Given the description of an element on the screen output the (x, y) to click on. 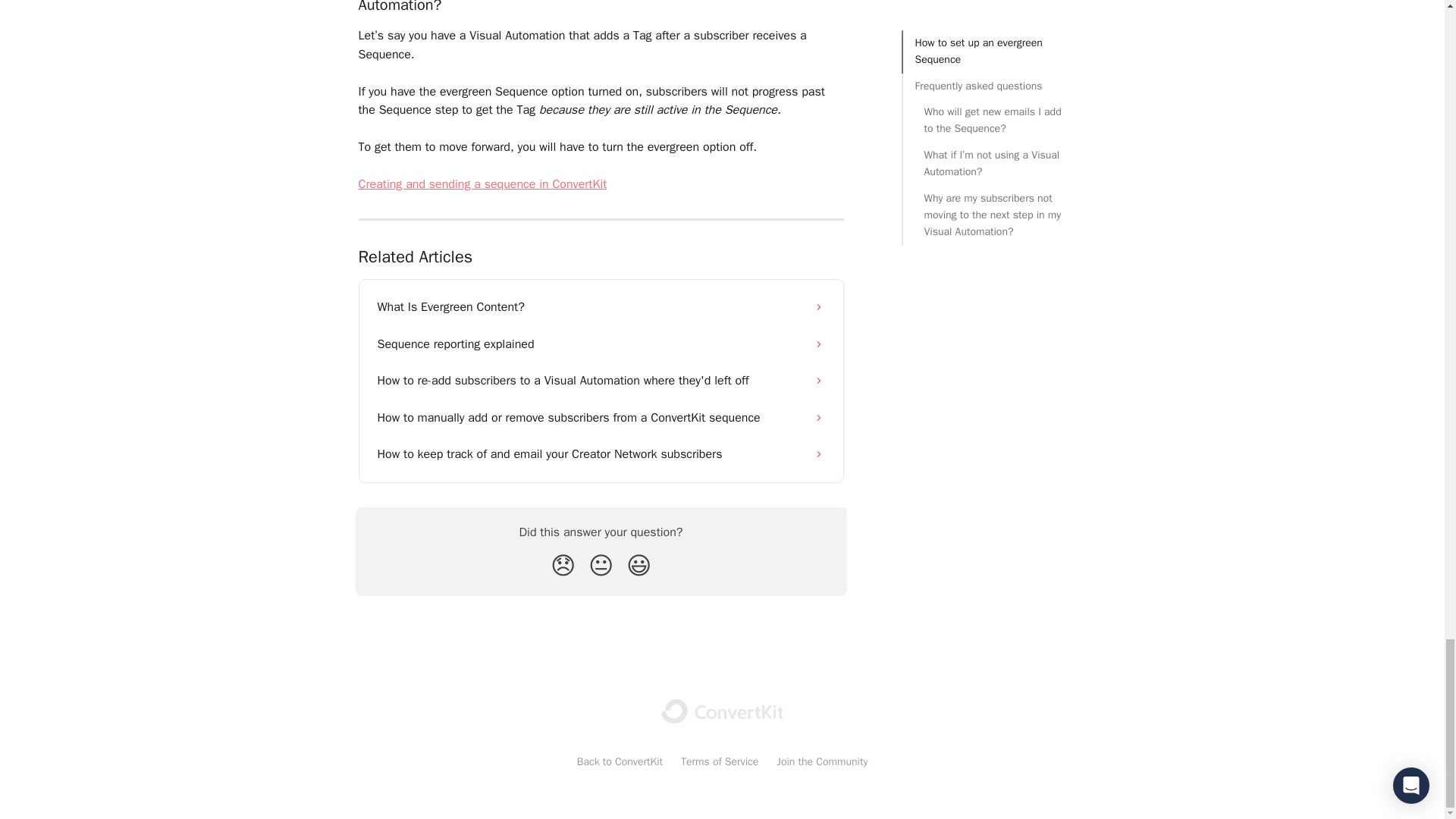
Sequence reporting explained (601, 343)
What Is Evergreen Content? (601, 307)
Back to ConvertKit (619, 761)
Creating and sending a sequence in ConvertKit (482, 183)
Terms of Service (719, 761)
